Given the description of an element on the screen output the (x, y) to click on. 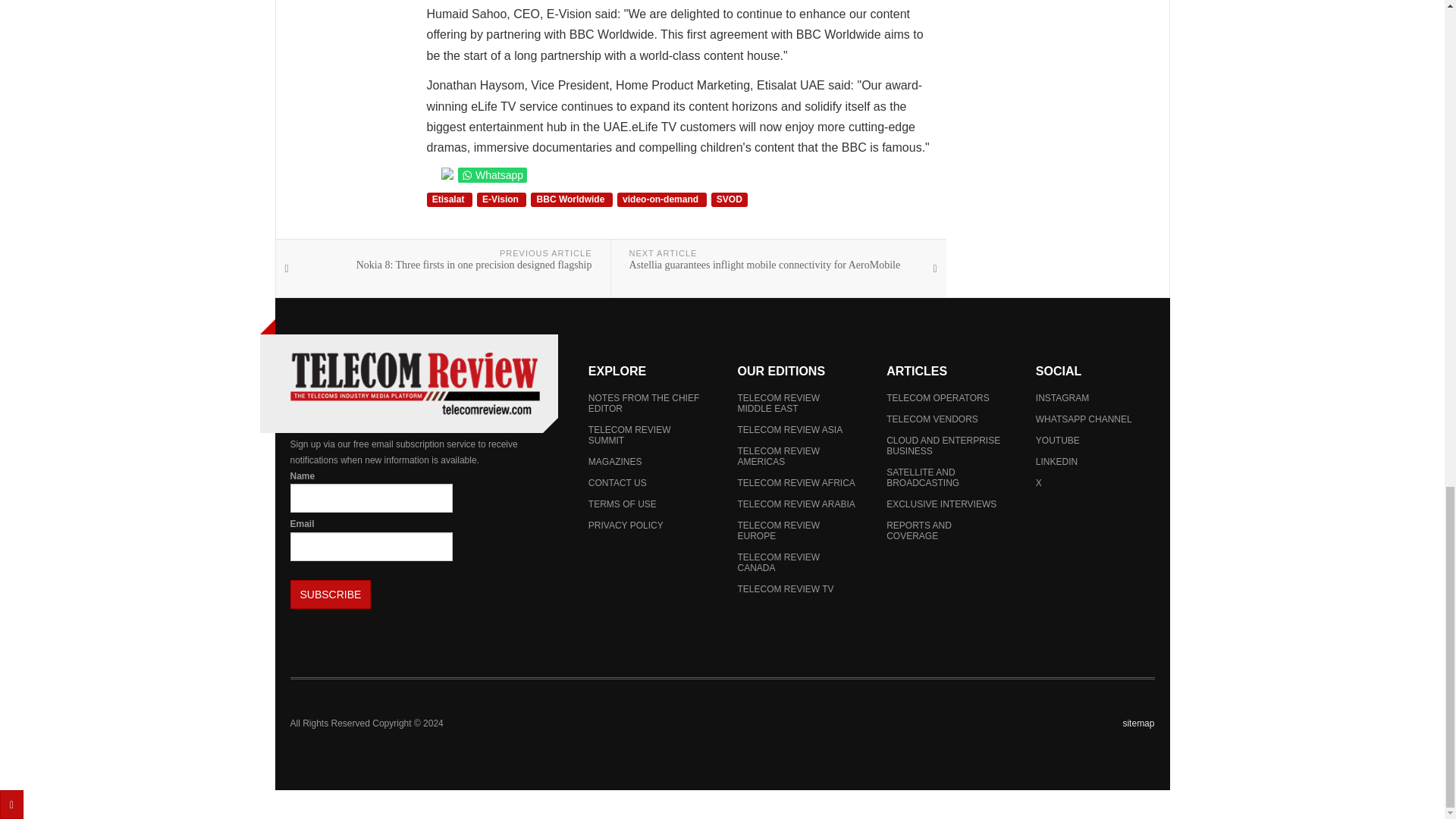
Subscribe (330, 594)
Telecom Review (413, 383)
